Given the description of an element on the screen output the (x, y) to click on. 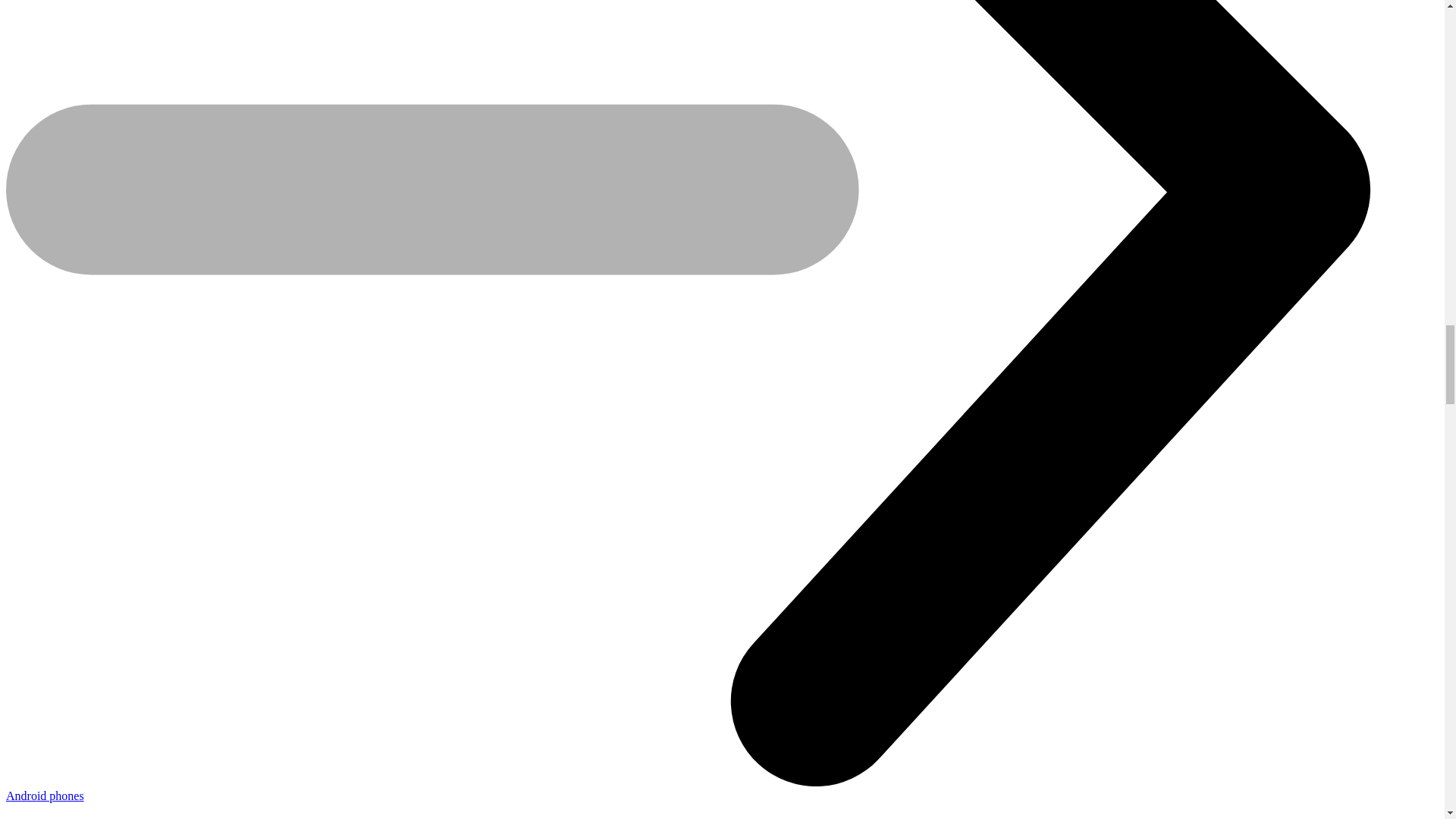
Android phones (44, 795)
